Given the description of an element on the screen output the (x, y) to click on. 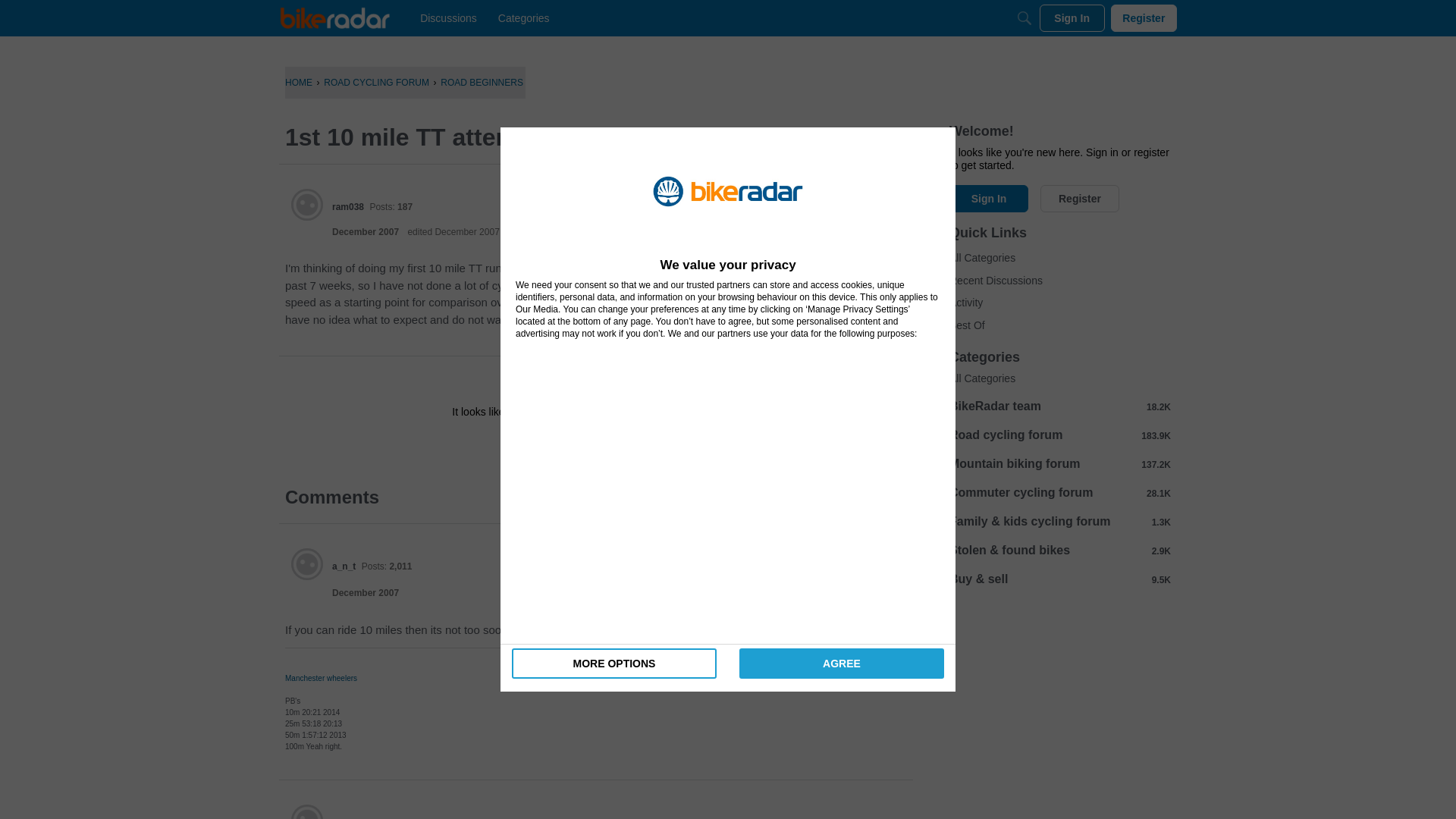
December 13, 2007 5:30PM (364, 593)
December 13, 2007 5:17PM (364, 231)
Register (1143, 17)
Edited December 31, 2007 1:33AM. (453, 231)
Discussions (448, 17)
Manchester wheelers (320, 678)
Sign In (547, 445)
CarlosFerreiro (362, 818)
ROAD BEGINNERS (481, 81)
Sign In (547, 445)
Search (1024, 17)
ram038 (307, 204)
December 2007 (364, 593)
Sign In (1072, 17)
Register (638, 445)
